Given the description of an element on the screen output the (x, y) to click on. 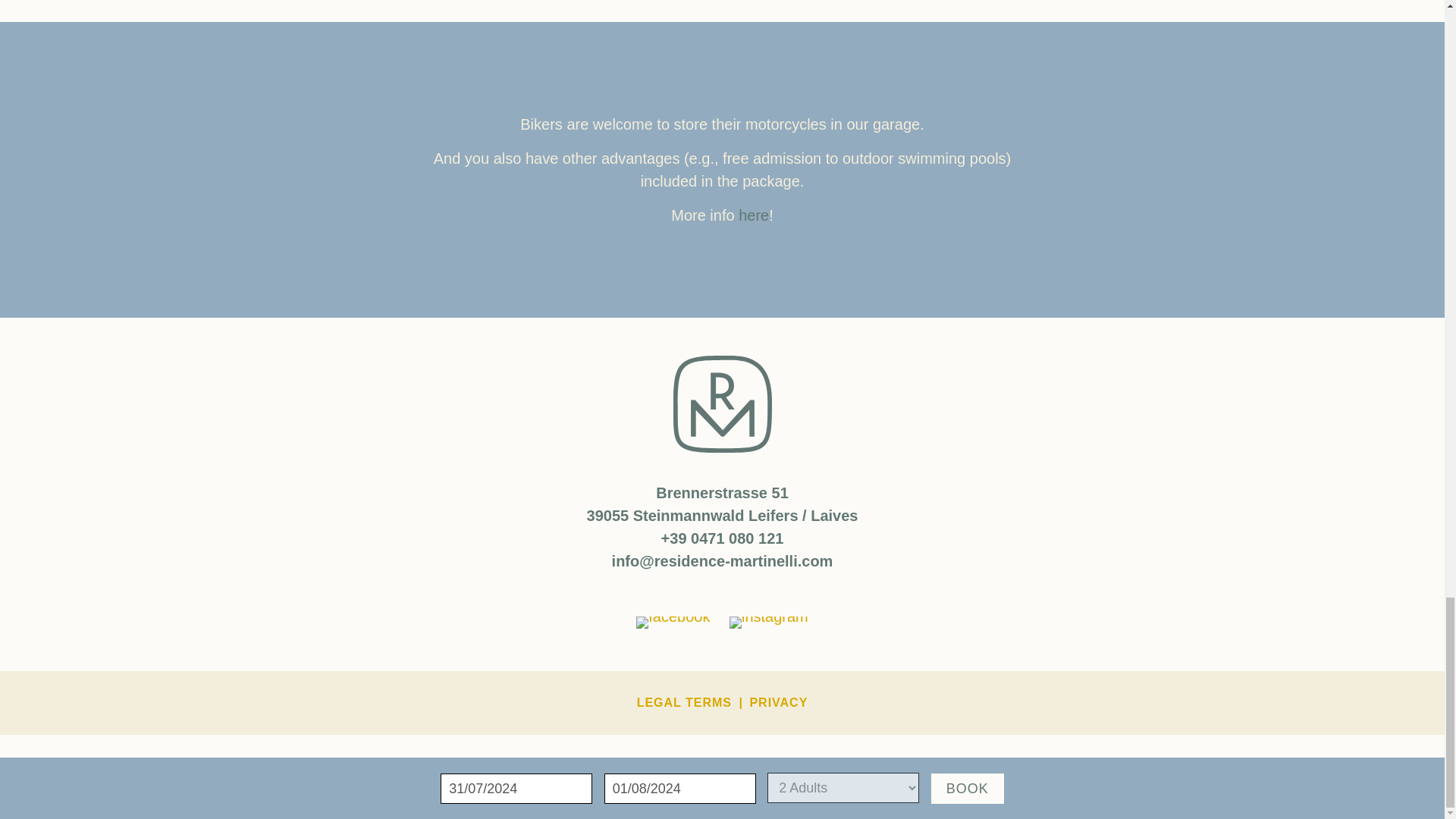
WordPress Cookie Notice by Real Cookie Banner (166, 807)
LEGAL TERMS (684, 702)
here (753, 215)
PRIVACY (778, 702)
